Given the description of an element on the screen output the (x, y) to click on. 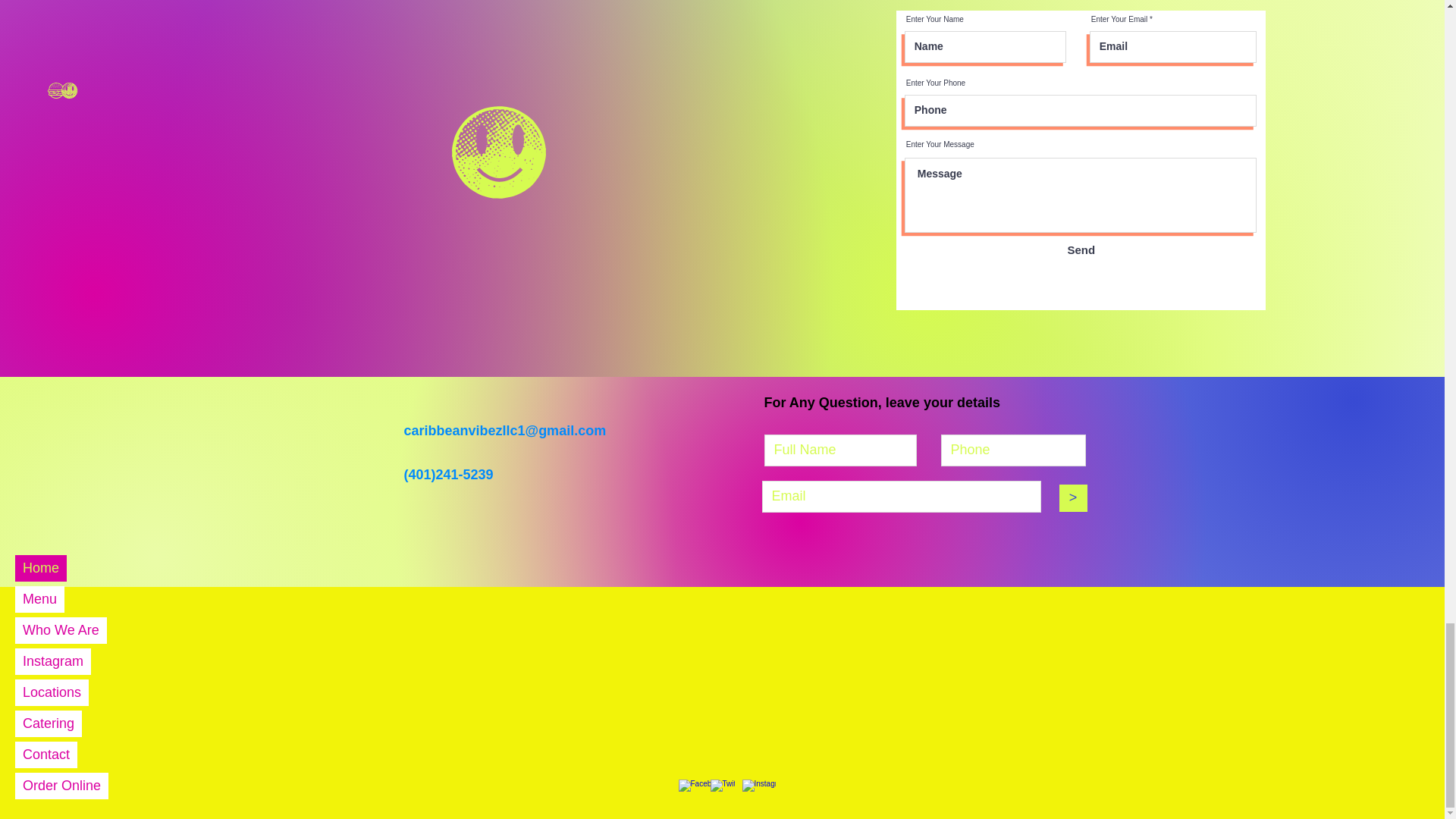
Send (1081, 249)
